Given the description of an element on the screen output the (x, y) to click on. 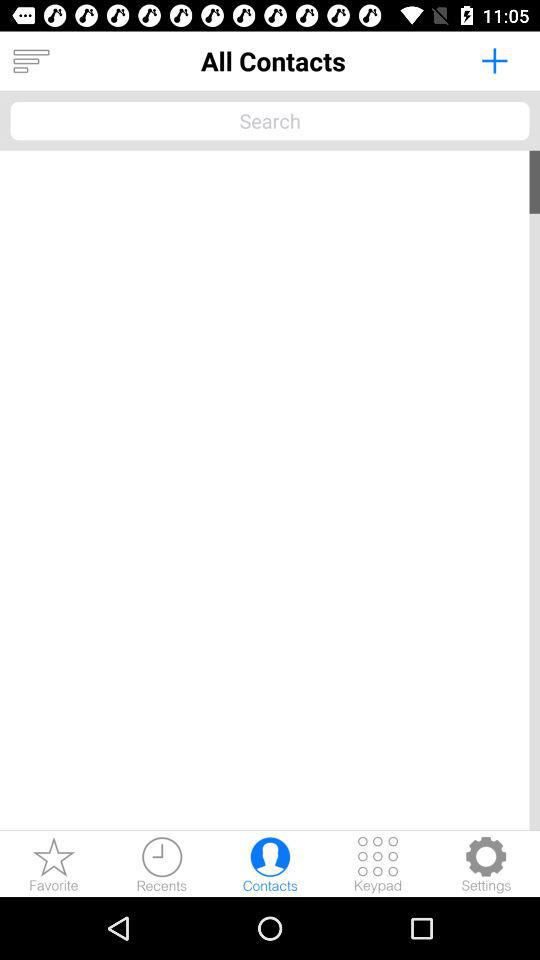
view recent activity (161, 864)
